Given the description of an element on the screen output the (x, y) to click on. 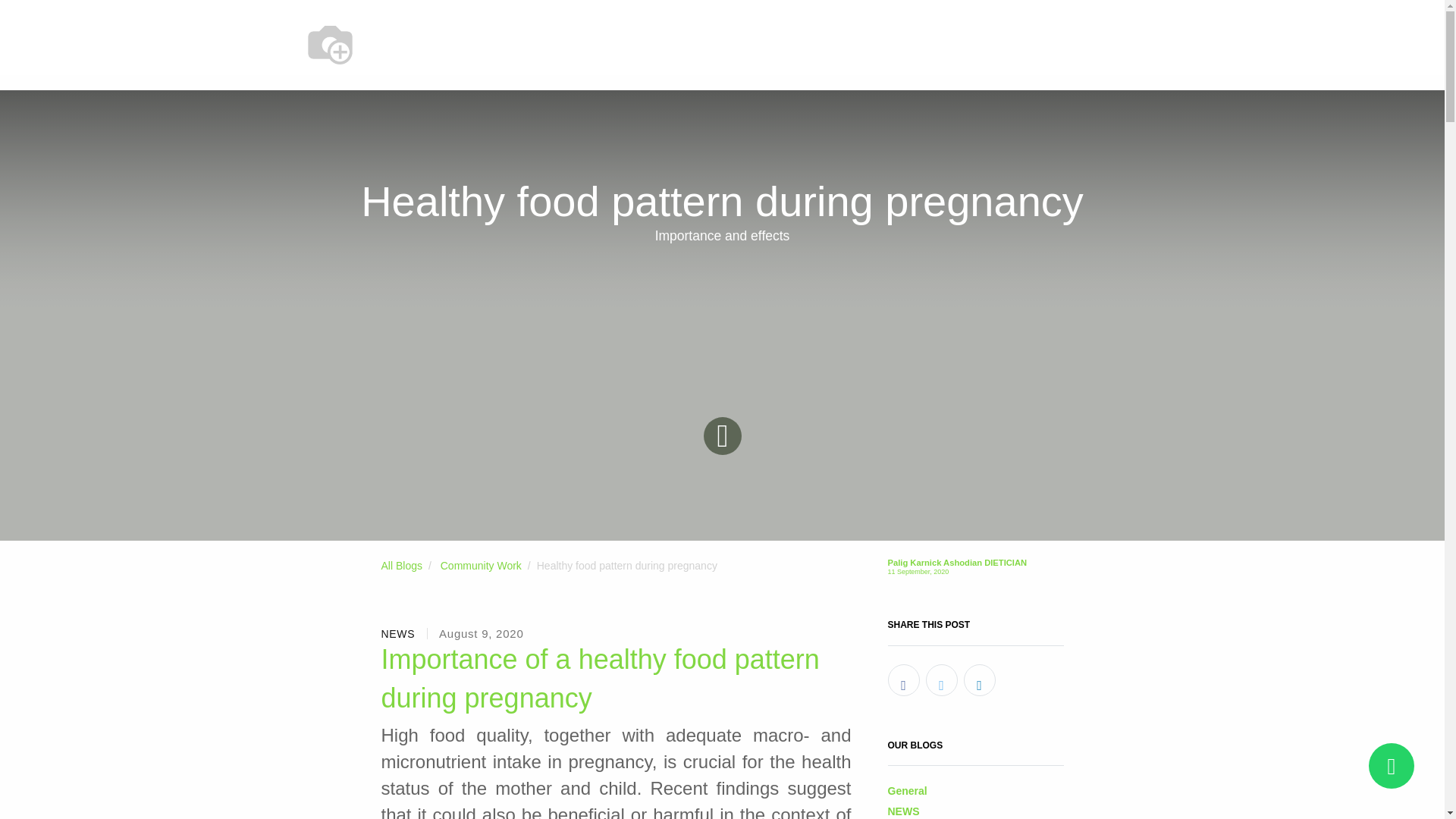
Share on Facebook (902, 680)
All Blogs (401, 565)
NEWS (397, 633)
Community Work (481, 565)
